Given the description of an element on the screen output the (x, y) to click on. 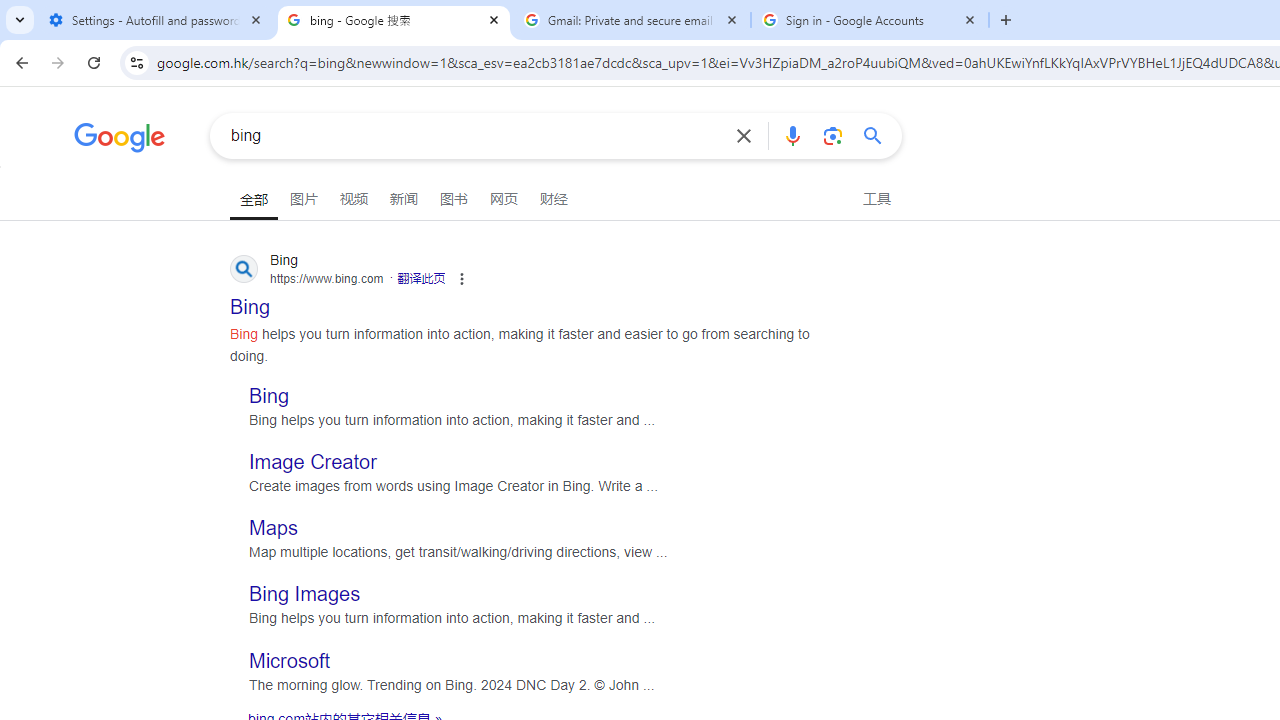
Microsoft (290, 659)
Sign in - Google Accounts (870, 20)
Maps (273, 528)
Settings - Autofill and passwords (156, 20)
 Bing Bing https://www.bing.com (250, 300)
